Given the description of an element on the screen output the (x, y) to click on. 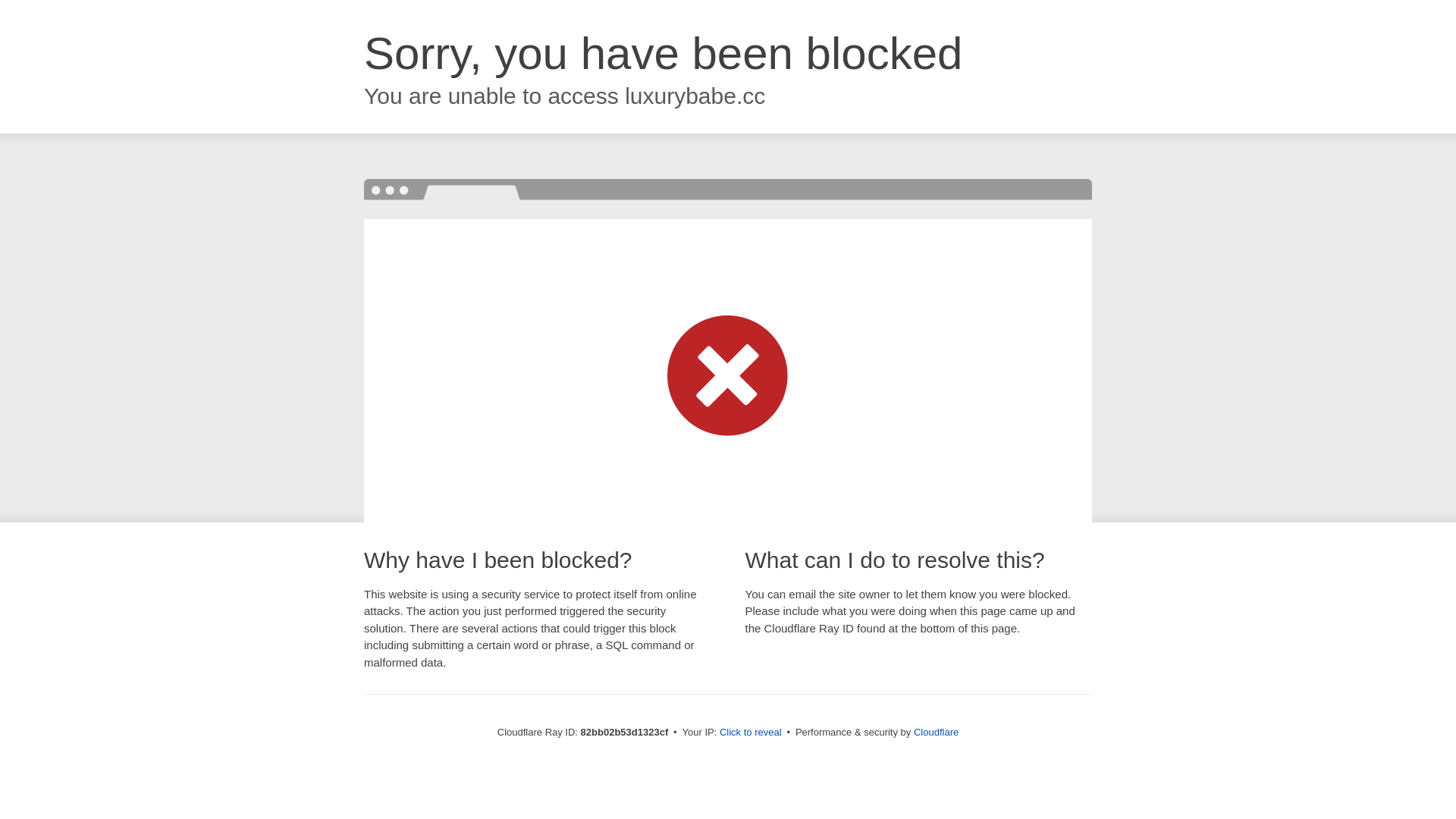
Click to reveal Element type: text (750, 732)
Cloudflare Element type: text (935, 731)
